Given the description of an element on the screen output the (x, y) to click on. 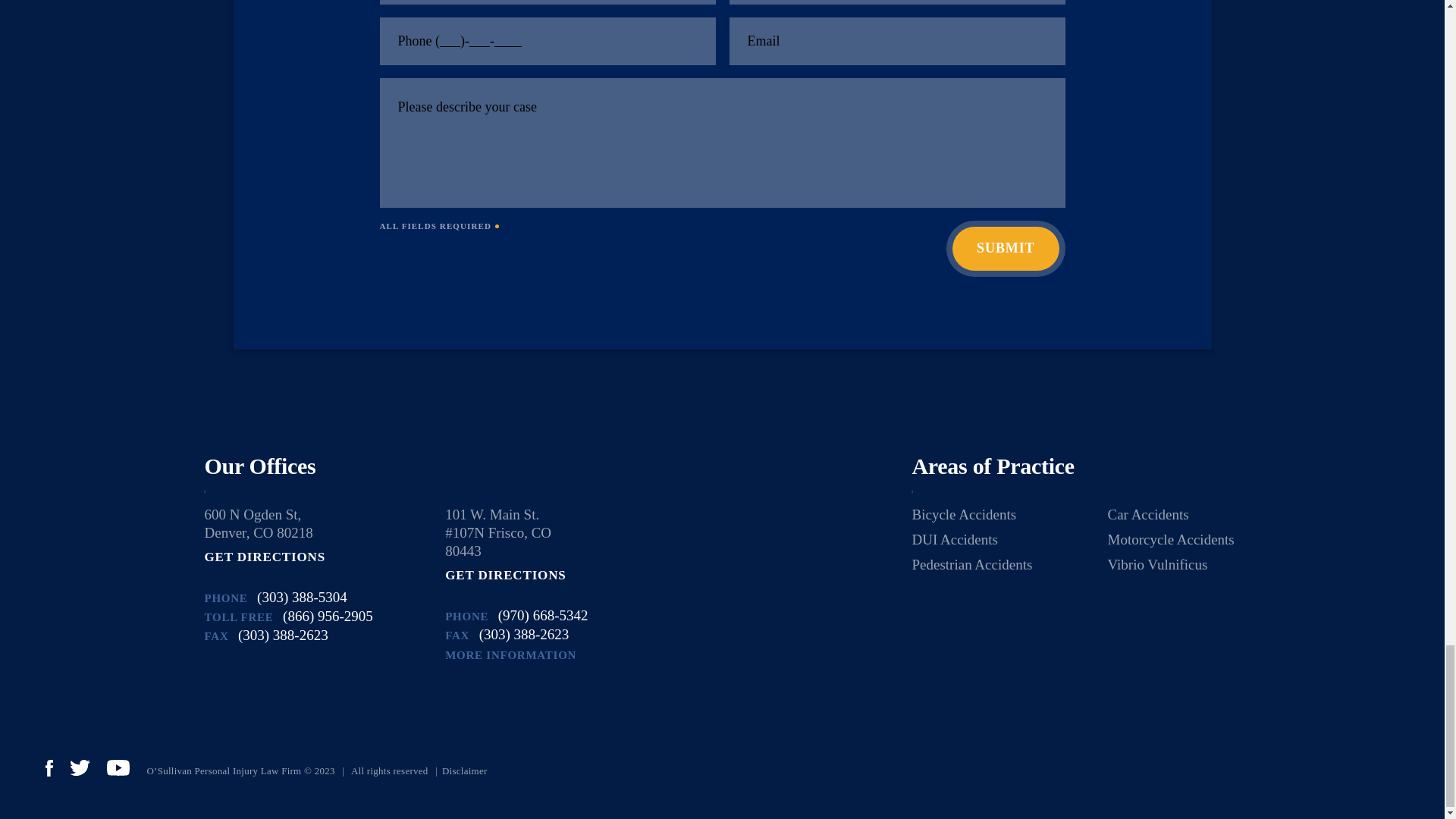
Submit (1005, 248)
